Given the description of an element on the screen output the (x, y) to click on. 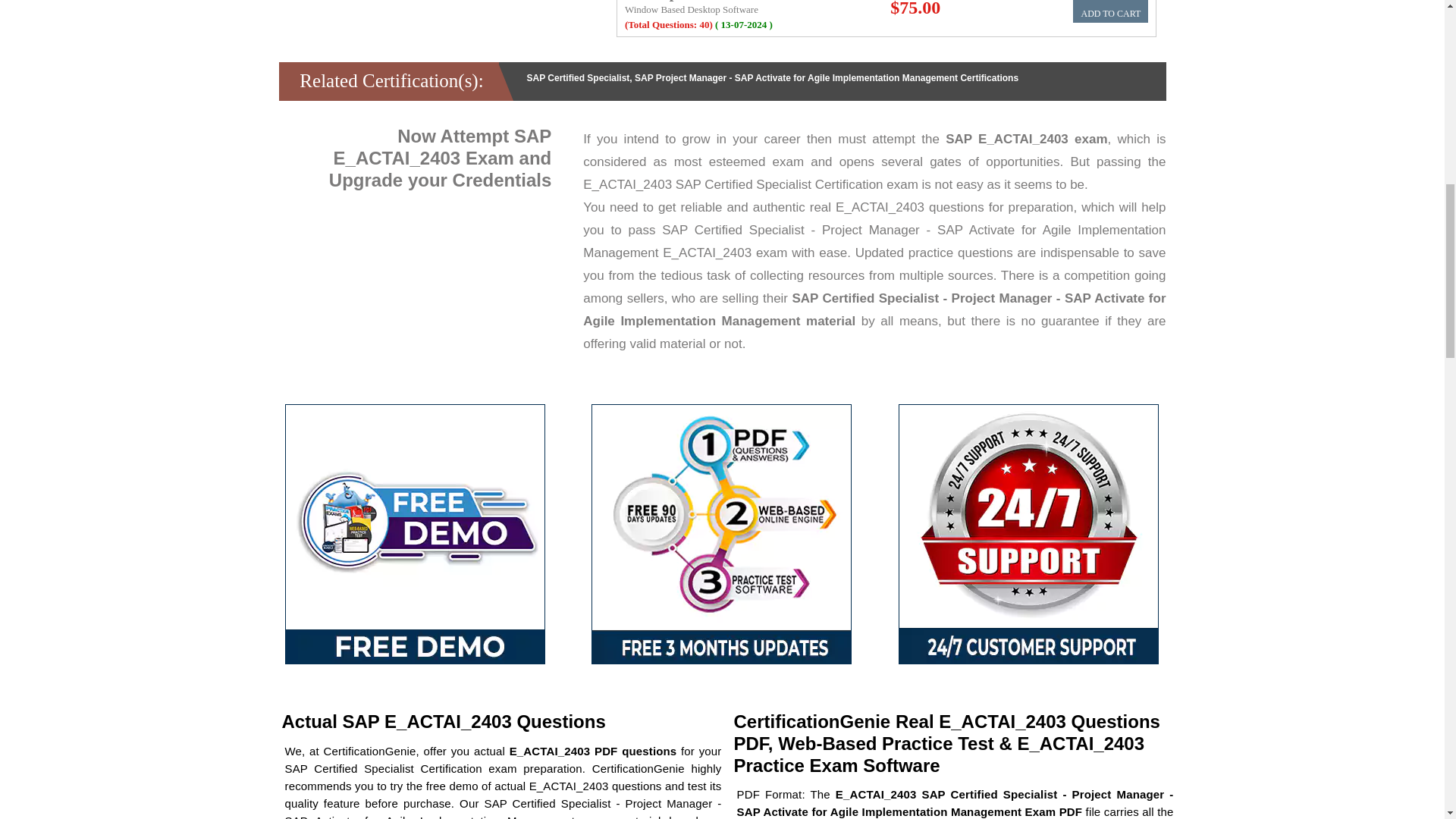
ADD TO CART (1110, 11)
